Given the description of an element on the screen output the (x, y) to click on. 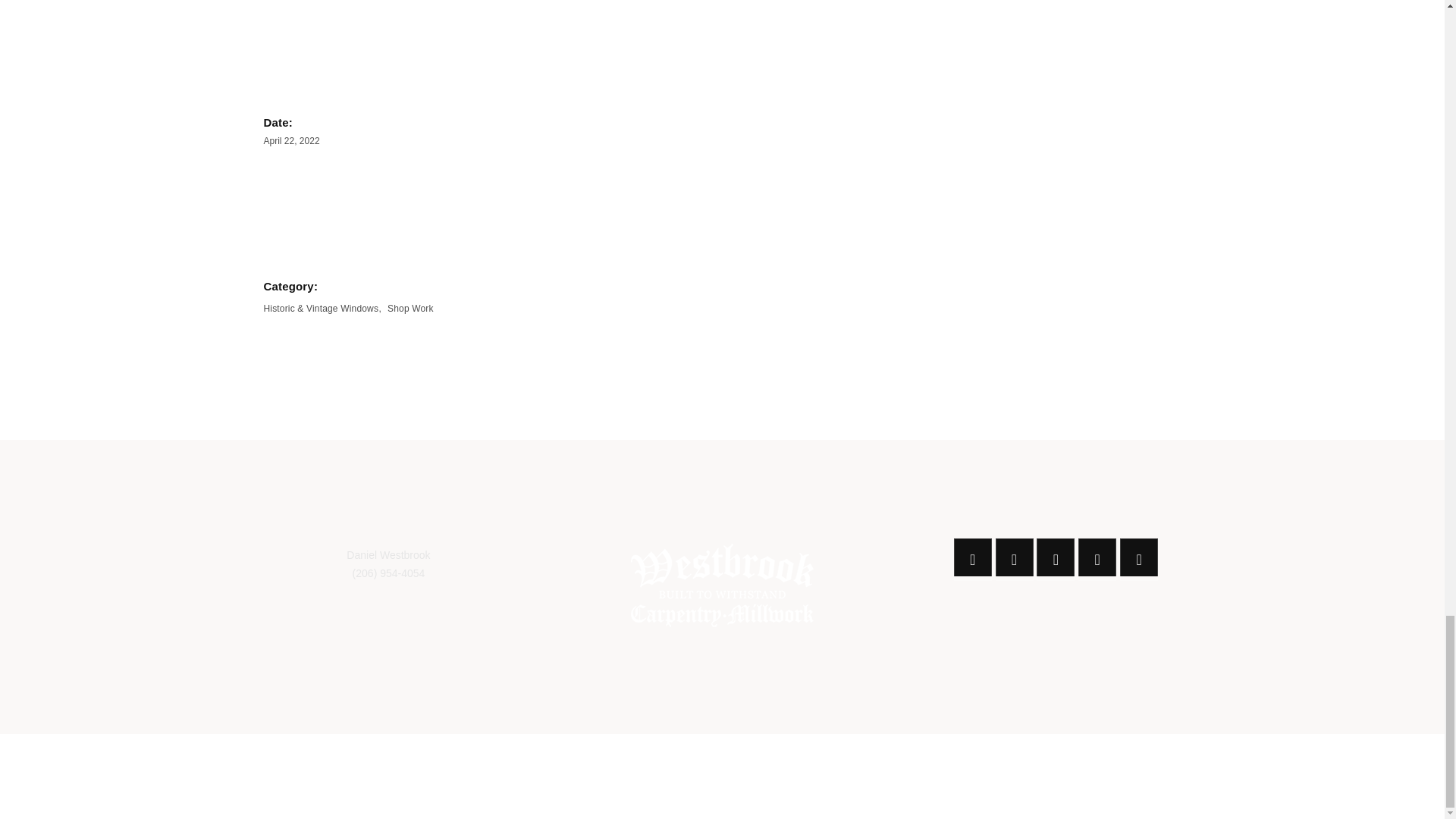
Shop Work (410, 307)
